Given the description of an element on the screen output the (x, y) to click on. 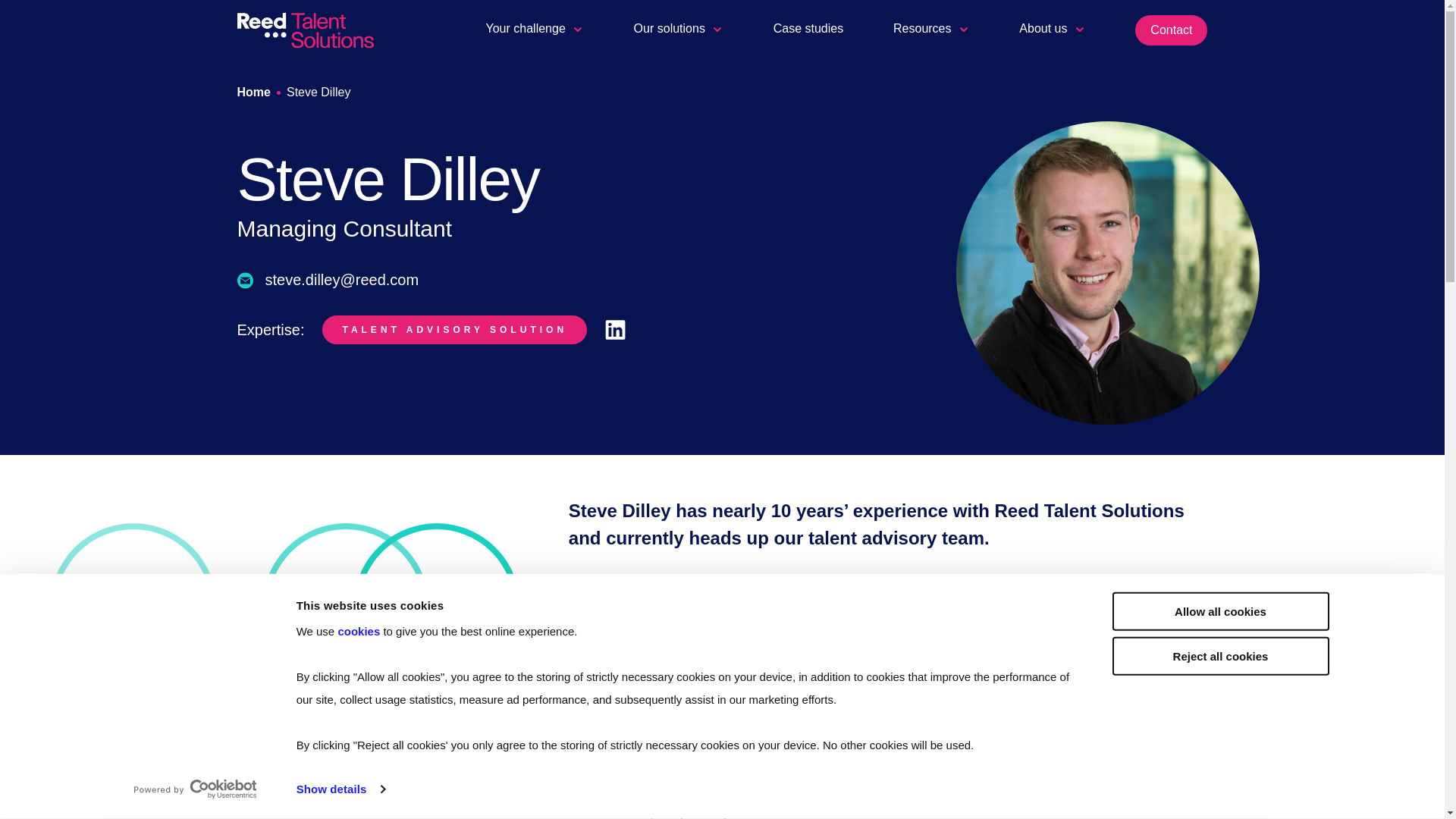
cookies  (359, 631)
REED logo (303, 30)
Show details (340, 789)
